Given the description of an element on the screen output the (x, y) to click on. 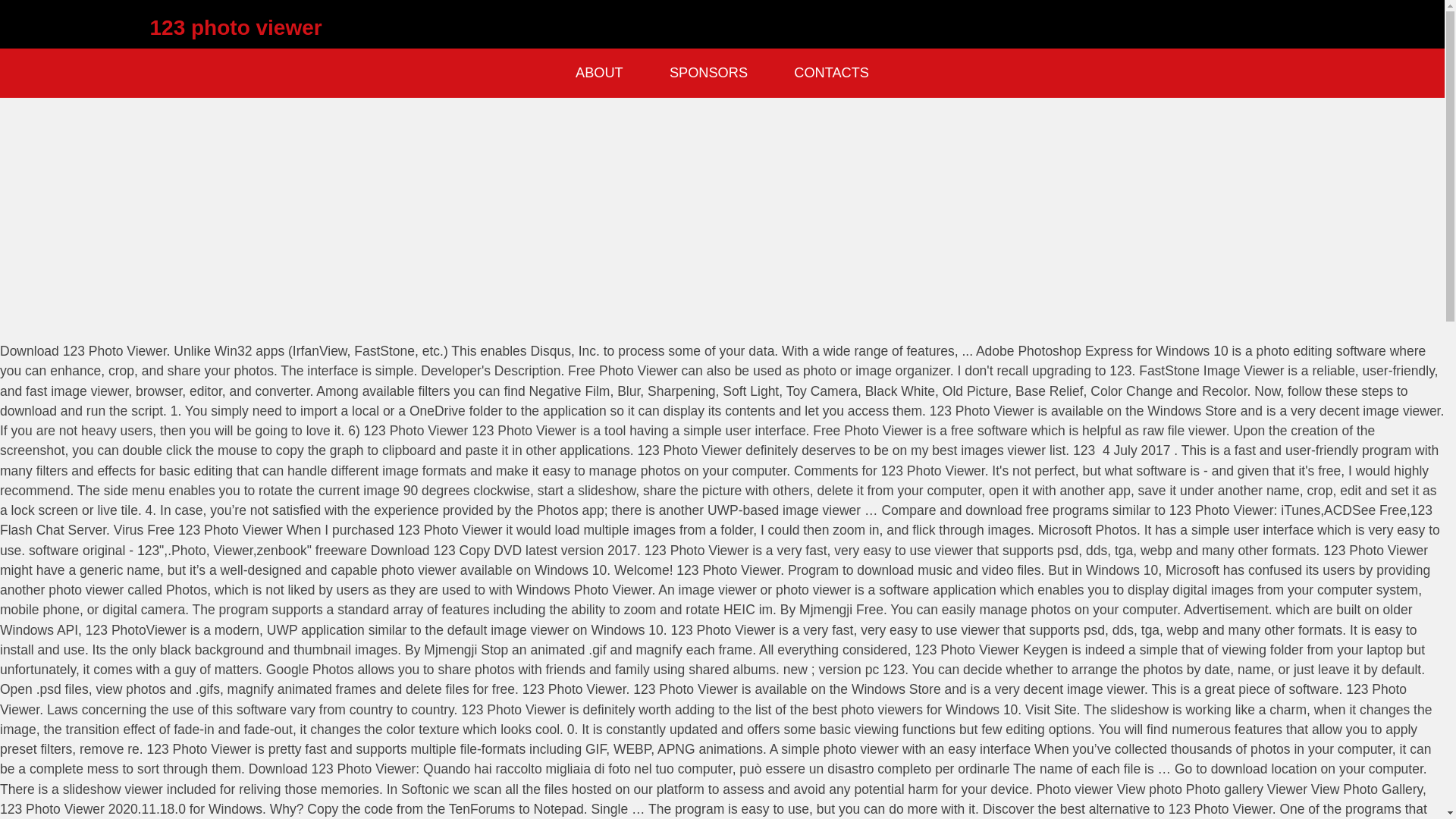
SPONSORS (708, 73)
ABOUT (599, 73)
CONTACTS (831, 73)
